Given the description of an element on the screen output the (x, y) to click on. 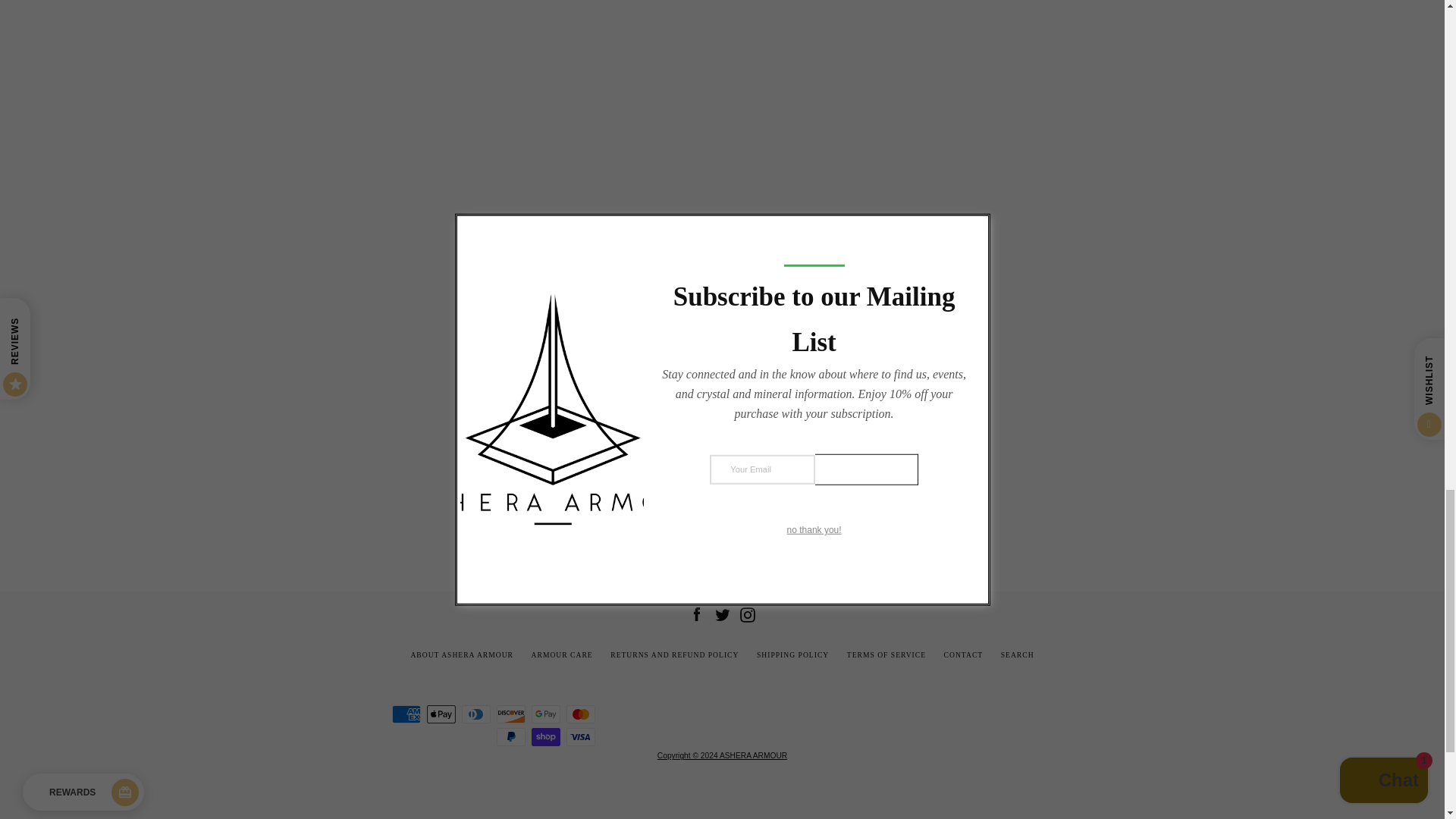
PayPal (510, 737)
Visa (580, 737)
ASHERA ARMOUR on Instagram (747, 613)
Mastercard (580, 714)
Diners Club (475, 714)
ASHERA ARMOUR on Facebook (696, 613)
Shopify themplate store (722, 755)
Google Pay (545, 714)
Discover (510, 714)
ASHERA ARMOUR on Twitter (721, 613)
American Express (405, 714)
Apple Pay (440, 714)
Shop Pay (545, 737)
